Given the description of an element on the screen output the (x, y) to click on. 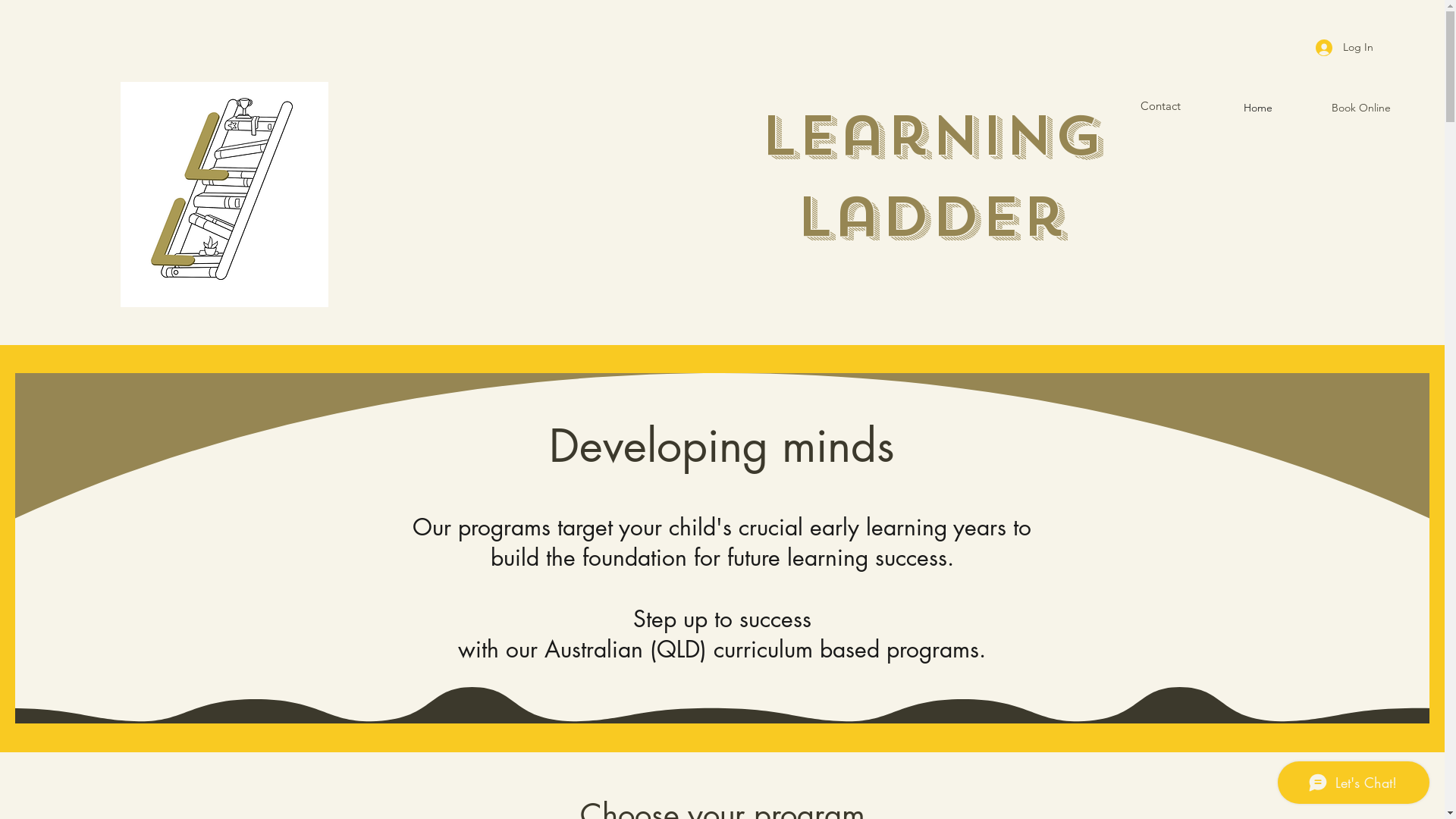
Ladder Element type: text (930, 217)
Book Online Element type: text (1339, 107)
Learning Element type: text (930, 135)
Log In Element type: text (1344, 47)
Contact Element type: text (1160, 105)
Home Element type: text (1220, 107)
